Given the description of an element on the screen output the (x, y) to click on. 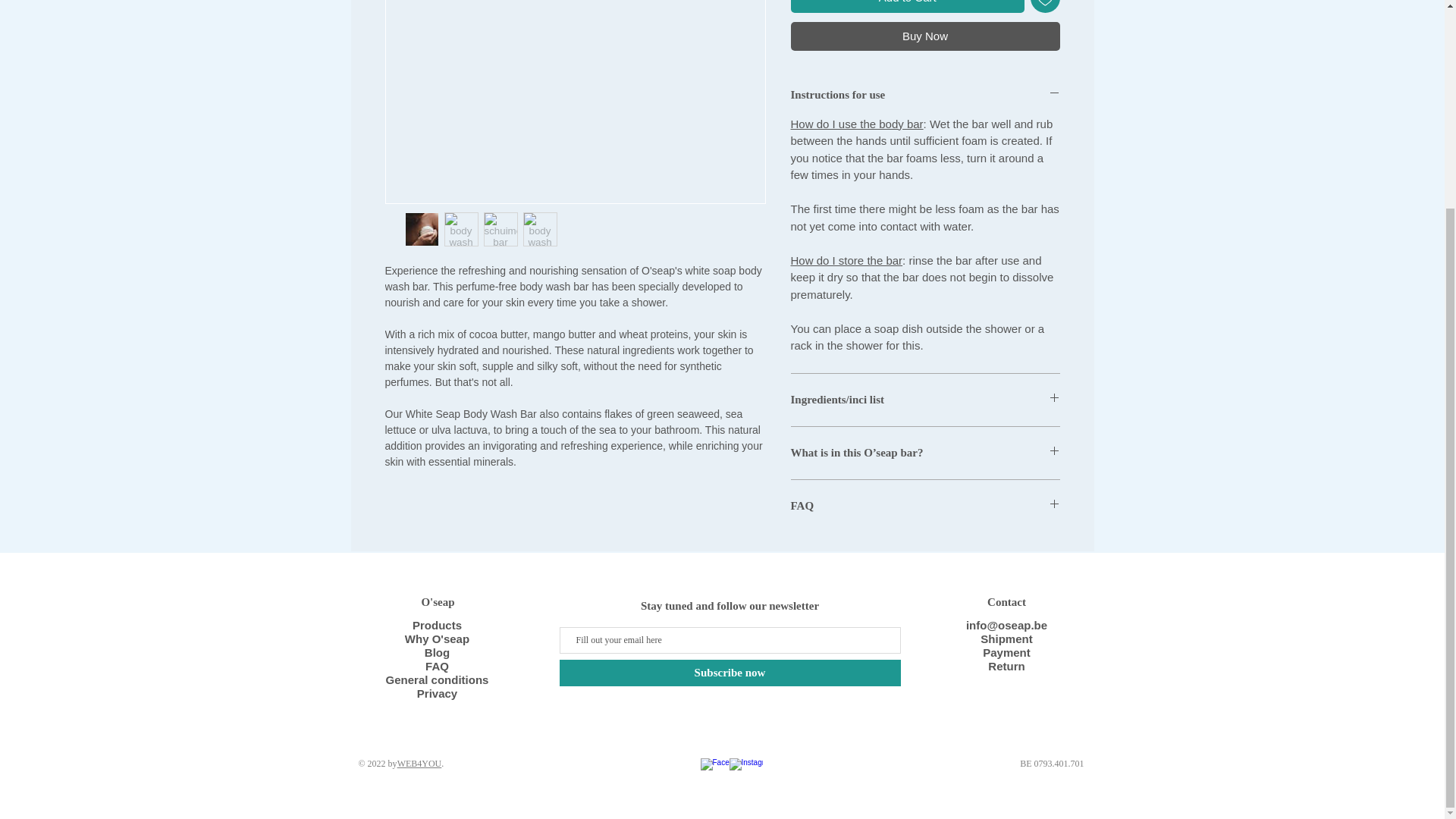
General conditions (437, 679)
Buy Now (924, 36)
Payment (1006, 652)
Products (436, 625)
FAQ (436, 666)
Add to Cart (907, 6)
Subscribe now (730, 673)
Privacy (436, 693)
Shipment (1005, 638)
Blog (437, 652)
Why O'seap (436, 638)
FAQ (924, 505)
Instructions for use (924, 94)
